Given the description of an element on the screen output the (x, y) to click on. 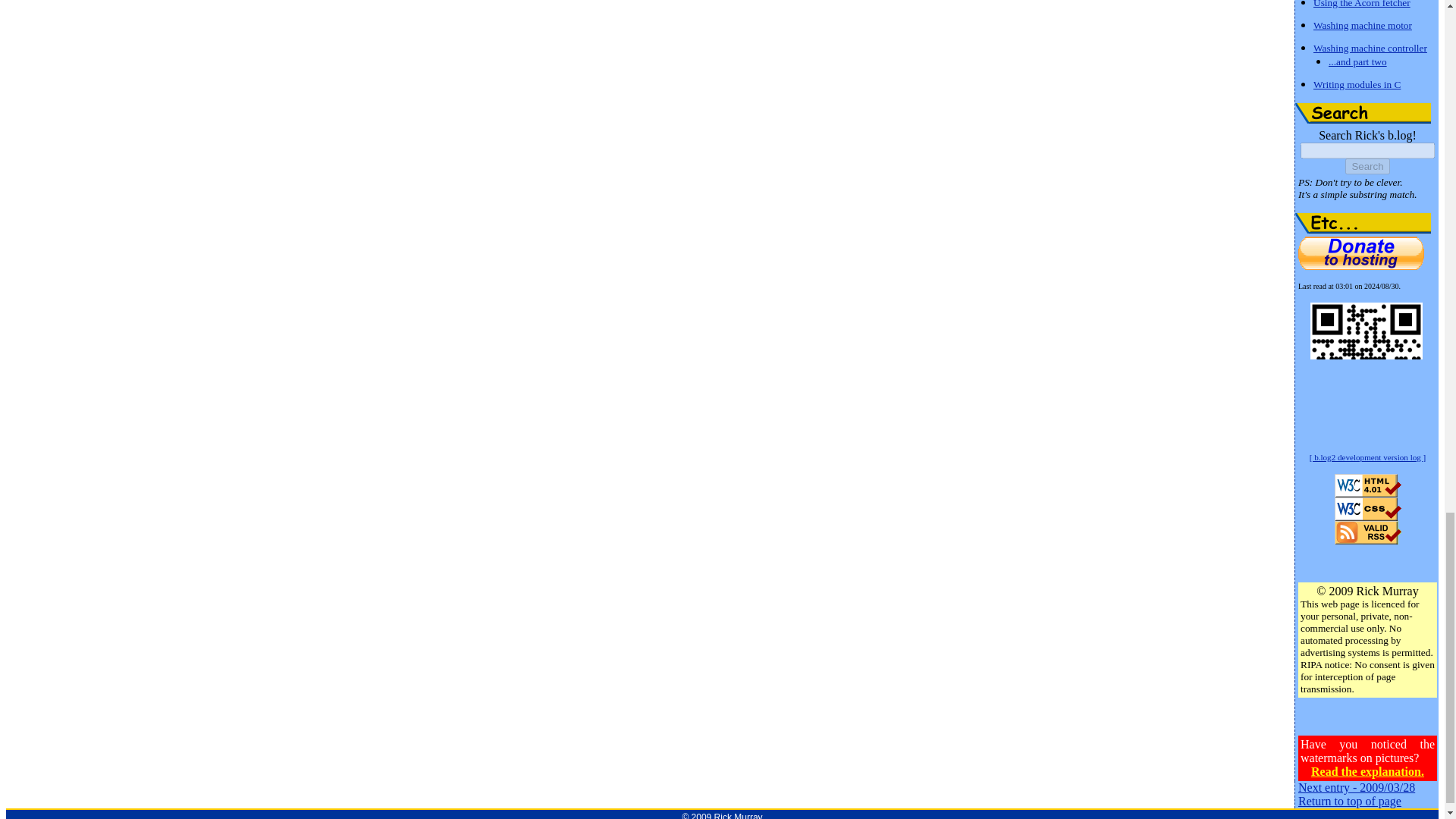
Etc... (1363, 222)
Search (1367, 166)
Search (1363, 113)
